Given the description of an element on the screen output the (x, y) to click on. 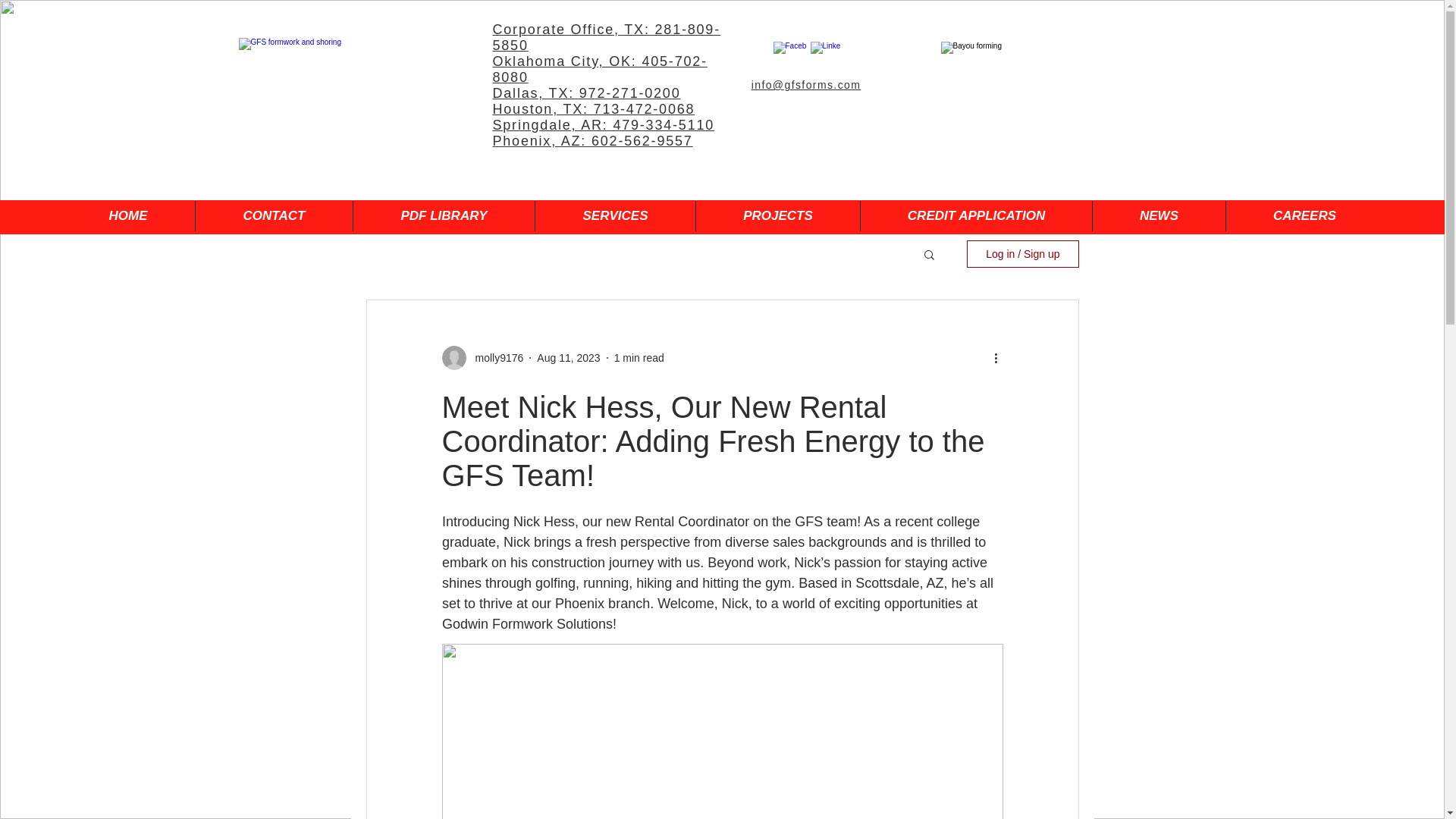
1 min read (638, 357)
CREDIT APPLICATION (976, 215)
molly9176 (493, 358)
SERVICES (614, 215)
NEWS (1158, 215)
Aug 11, 2023 (568, 357)
PDF LIBRARY (443, 215)
CONTACT (273, 215)
HOME (128, 215)
CAREERS (1304, 215)
PROJECTS (777, 215)
best colors.png (349, 71)
